Given the description of an element on the screen output the (x, y) to click on. 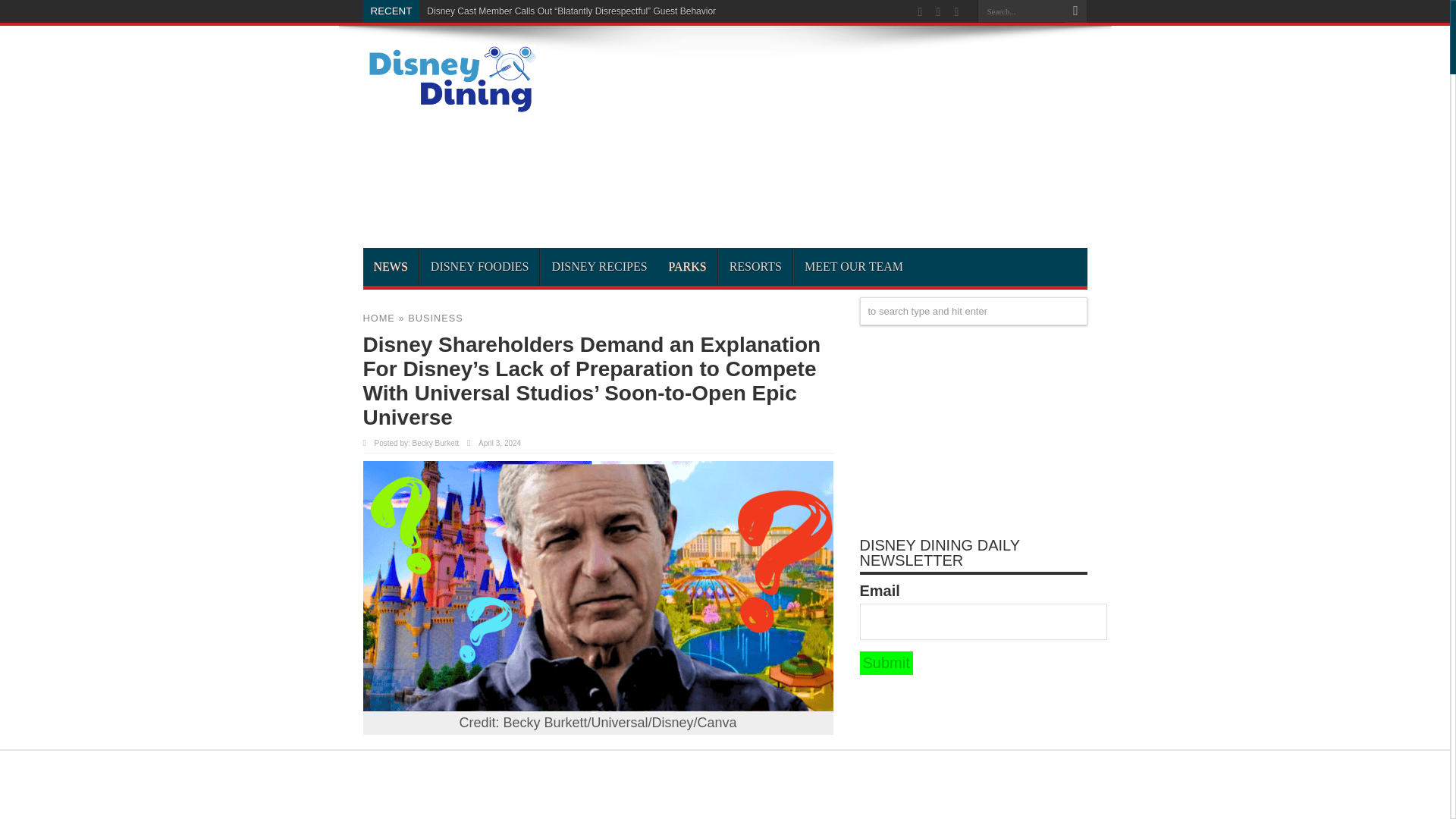
DISNEY RECIPES (599, 266)
DISNEY FOODIES (479, 266)
Becky Burkett (436, 442)
MEET OUR TEAM (853, 266)
BUSINESS (435, 317)
Search... (1020, 11)
HOME (378, 317)
RESORTS (754, 266)
Disney Dining (448, 107)
NEWS (389, 266)
